Given the description of an element on the screen output the (x, y) to click on. 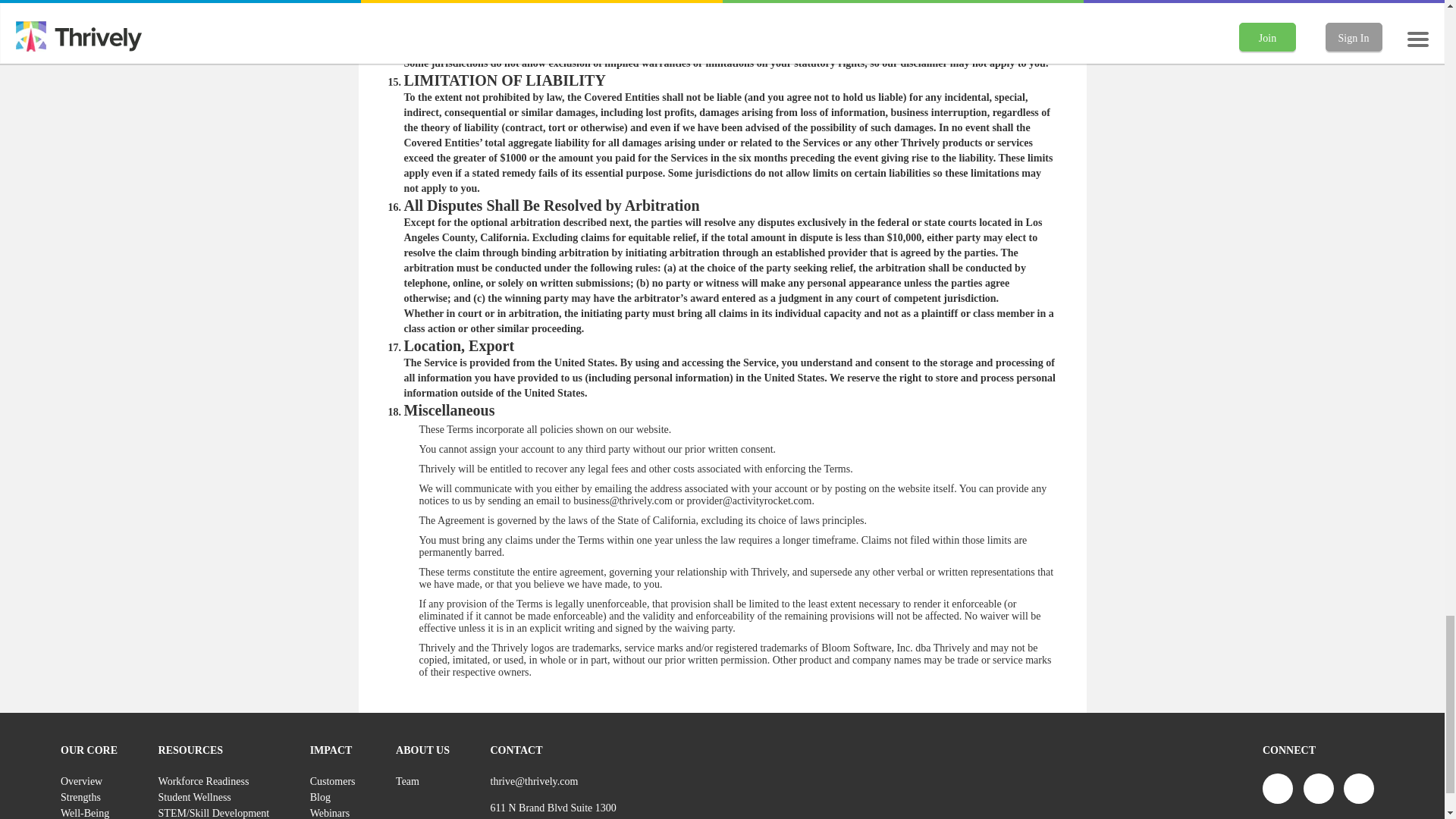
Overview (89, 781)
Strengths (89, 797)
